Given the description of an element on the screen output the (x, y) to click on. 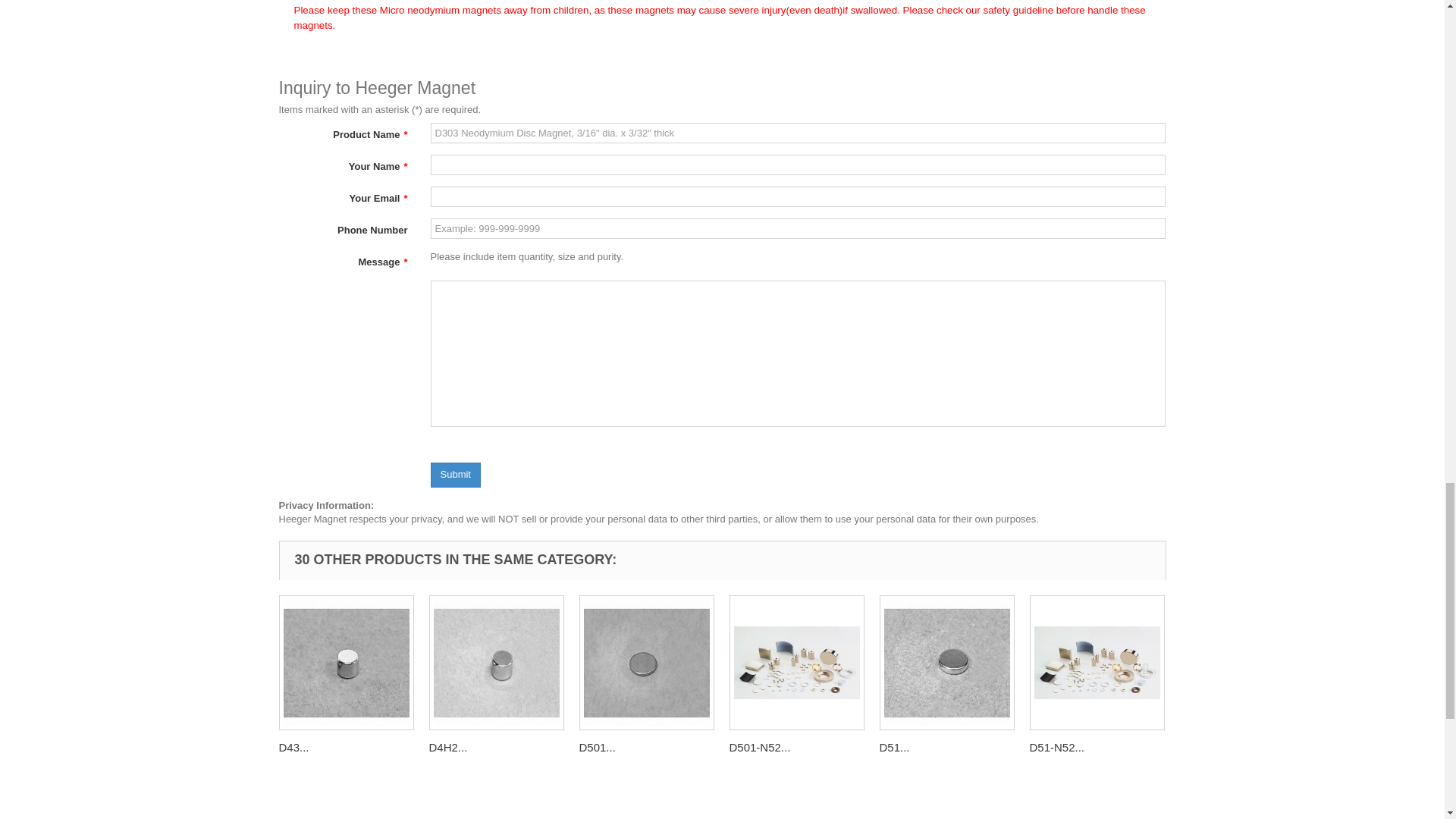
Submit (455, 474)
D501-N52... (759, 747)
D43... (293, 747)
D4H2... (448, 747)
D501... (597, 747)
